Given the description of an element on the screen output the (x, y) to click on. 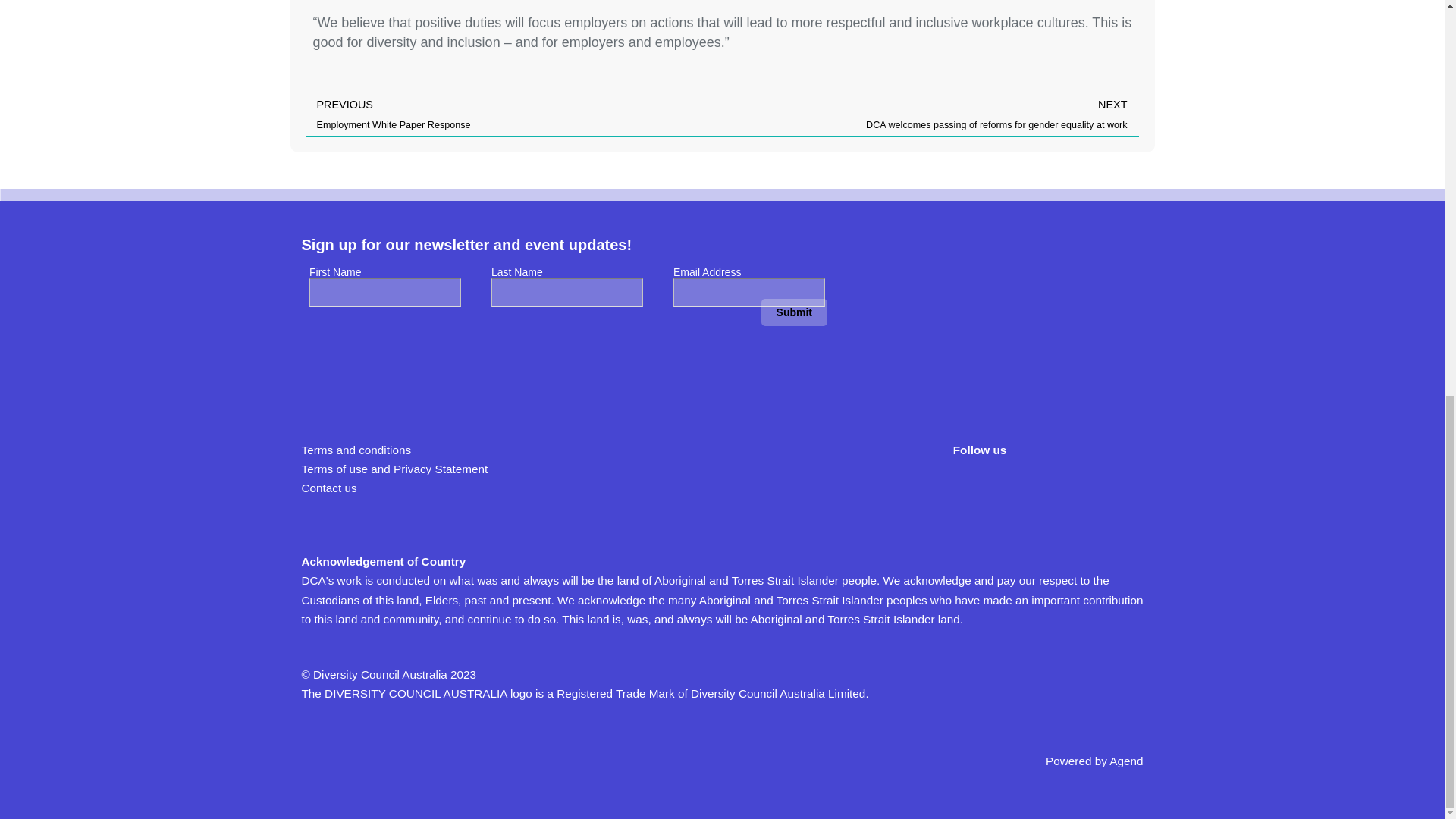
Twitter (1013, 487)
LinkedIn (1056, 487)
Instagram (1100, 487)
Facebook (968, 487)
